Given the description of an element on the screen output the (x, y) to click on. 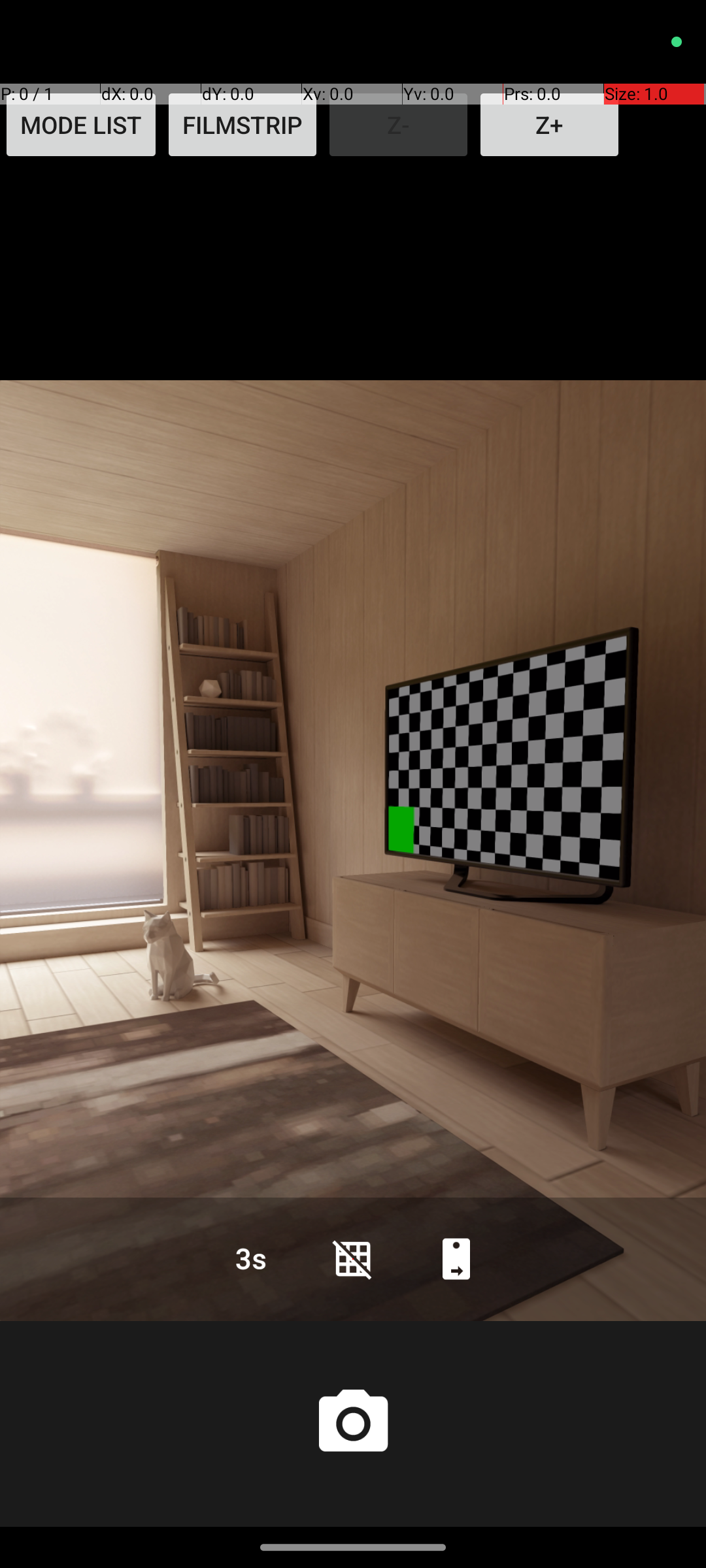
Countdown timer duration is set to 3 seconds Element type: android.widget.ImageButton (249, 1258)
Grid lines off Element type: android.widget.ImageButton (352, 1258)
Back camera Element type: android.widget.ImageButton (456, 1258)
